Given the description of an element on the screen output the (x, y) to click on. 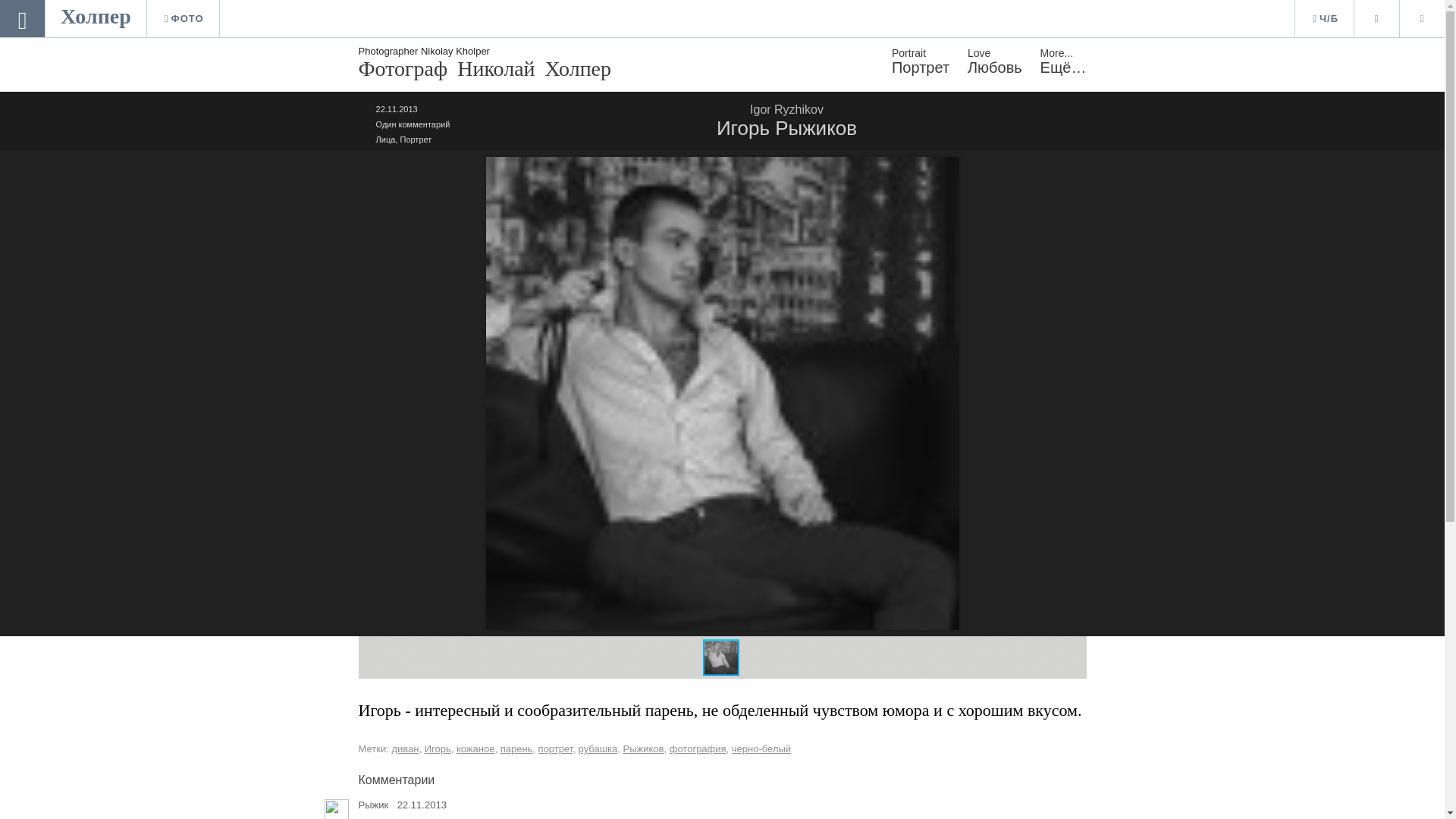
22.11.2013 Element type: text (396, 108)
